Given the description of an element on the screen output the (x, y) to click on. 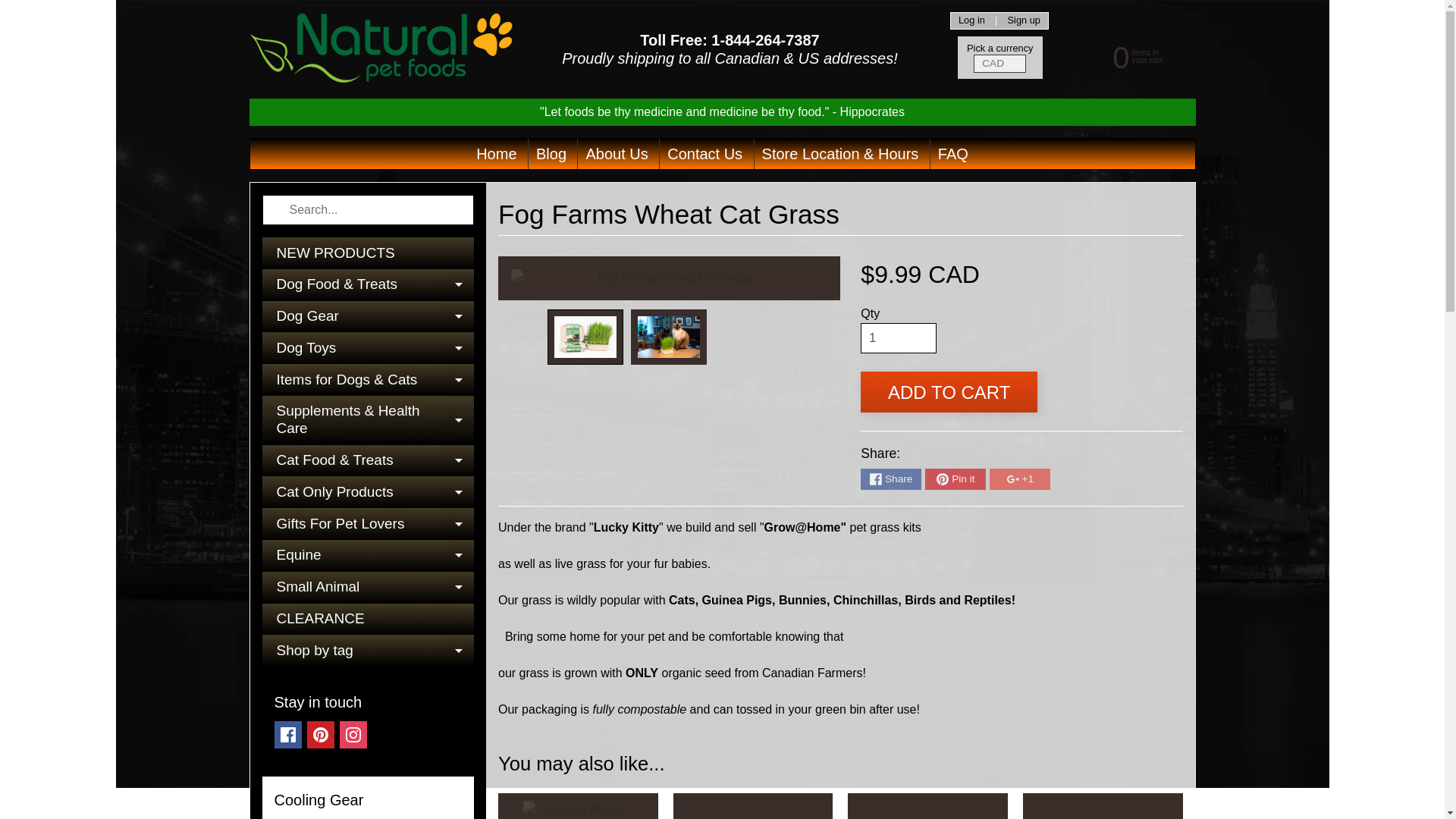
Instagram (352, 734)
About Us (616, 153)
FAQ (952, 153)
Pinterest (1122, 56)
1 (320, 734)
Facebook (898, 337)
Natural Pet Foods (288, 734)
Contact Us (380, 49)
EXPAND CHILD MENU (704, 153)
